Given the description of an element on the screen output the (x, y) to click on. 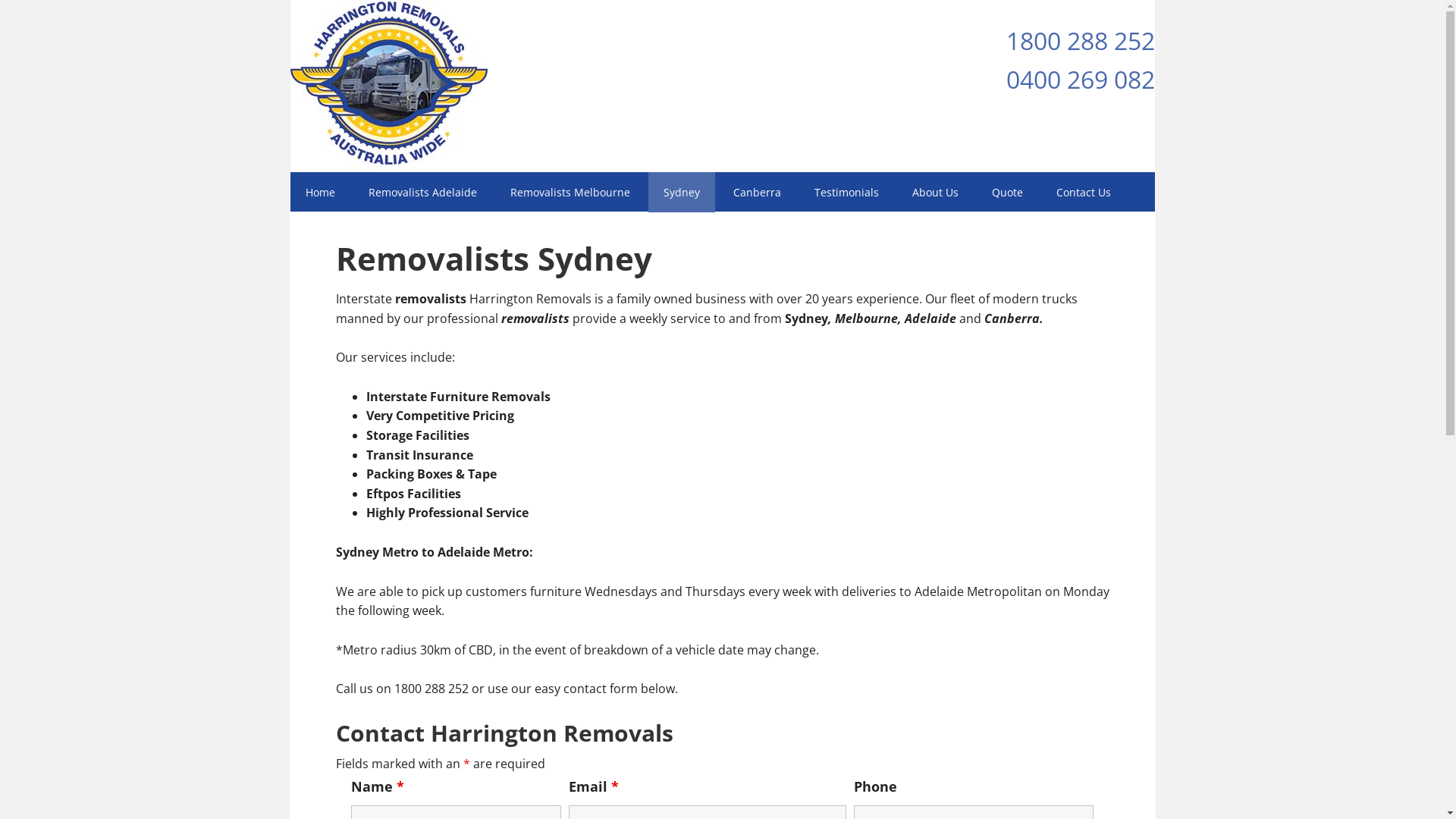
Removalists Melbourne Element type: text (569, 192)
1800 288 252 Element type: text (1079, 40)
Removalists Adelaide Element type: text (422, 192)
Contact Us Element type: text (1082, 192)
Removalists & Furniture Removals Adelaide, Melbourne Sydney Element type: text (387, 86)
Quote Element type: text (1007, 192)
Testimonials Element type: text (846, 192)
About Us Element type: text (934, 192)
0400 269 082 Element type: text (1079, 78)
Canberra Element type: text (756, 192)
Home Element type: text (319, 192)
Sydney Element type: text (680, 192)
